Given the description of an element on the screen output the (x, y) to click on. 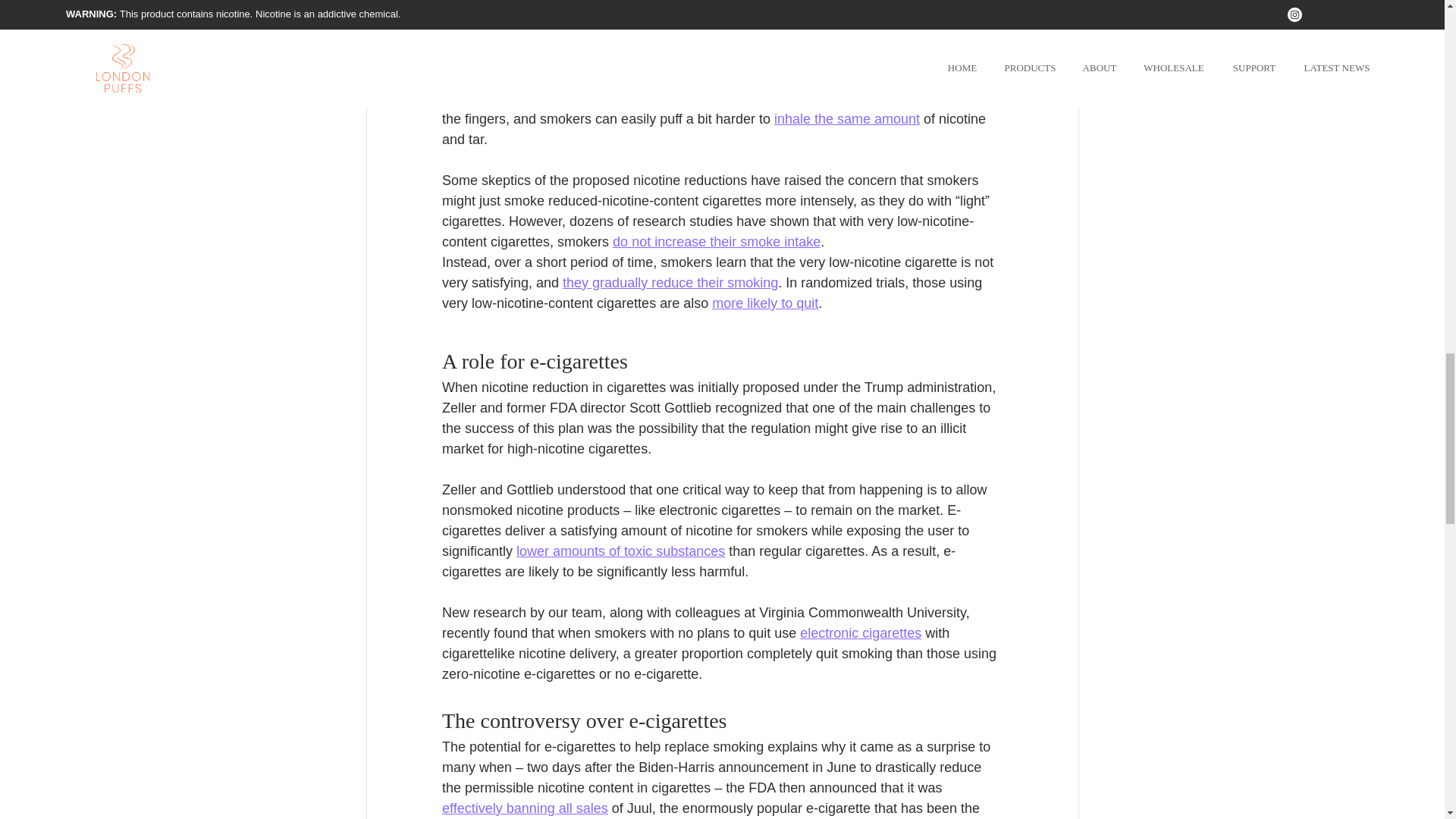
do not increase their smoke intake (716, 241)
more likely to quit (764, 303)
lower amounts of toxic substances (620, 550)
inhale the same amount (845, 118)
they gradually reduce their smoking (669, 282)
less than 0.5 milligrams of nicotine (696, 27)
effectively banning all sales (524, 807)
electronic cigarettes (860, 632)
